Given the description of an element on the screen output the (x, y) to click on. 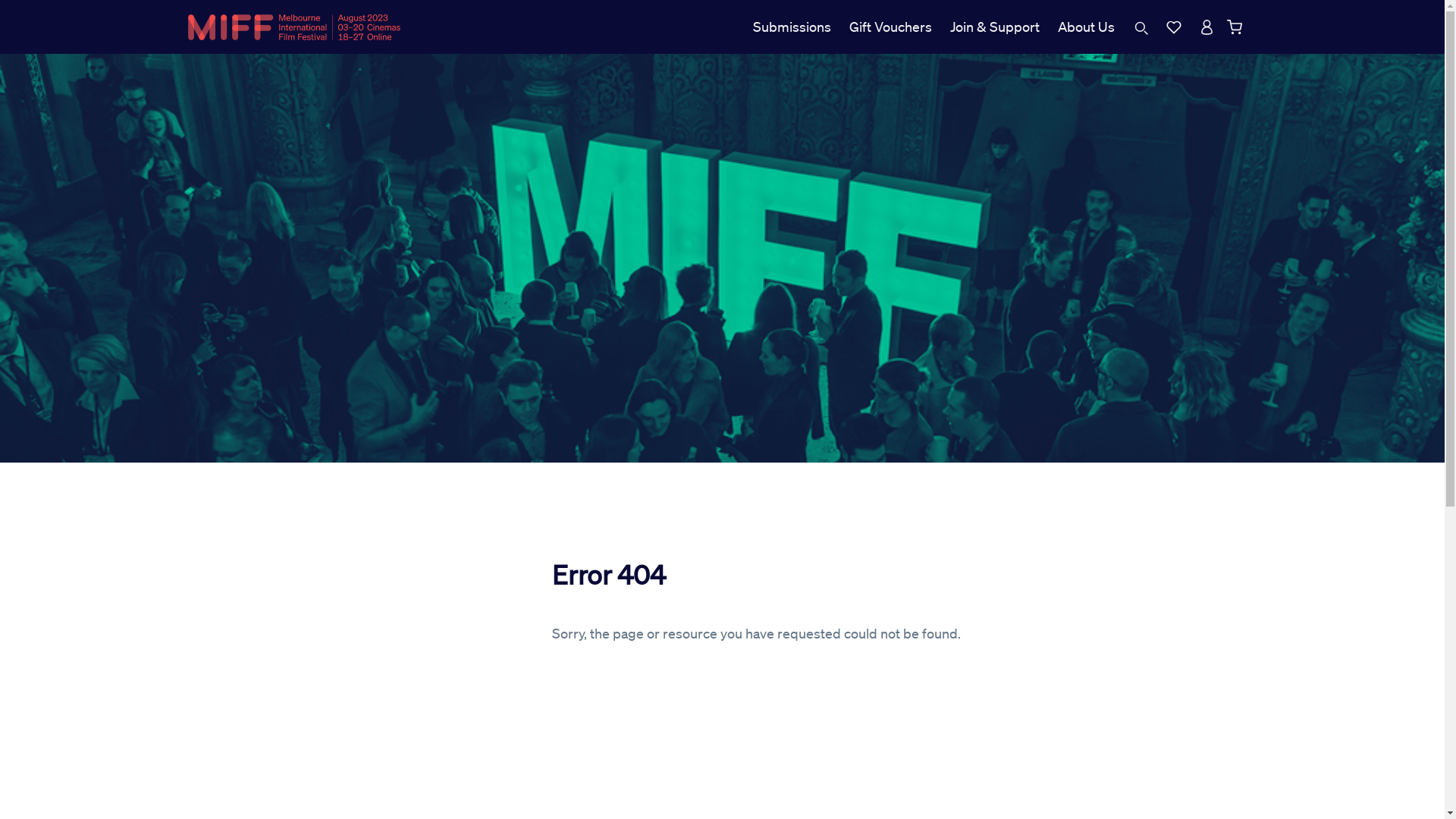
Gift Vouchers Element type: text (890, 26)
Submissions Element type: text (791, 26)
About Us Element type: text (1085, 26)
Join & Support Element type: text (994, 26)
